Given the description of an element on the screen output the (x, y) to click on. 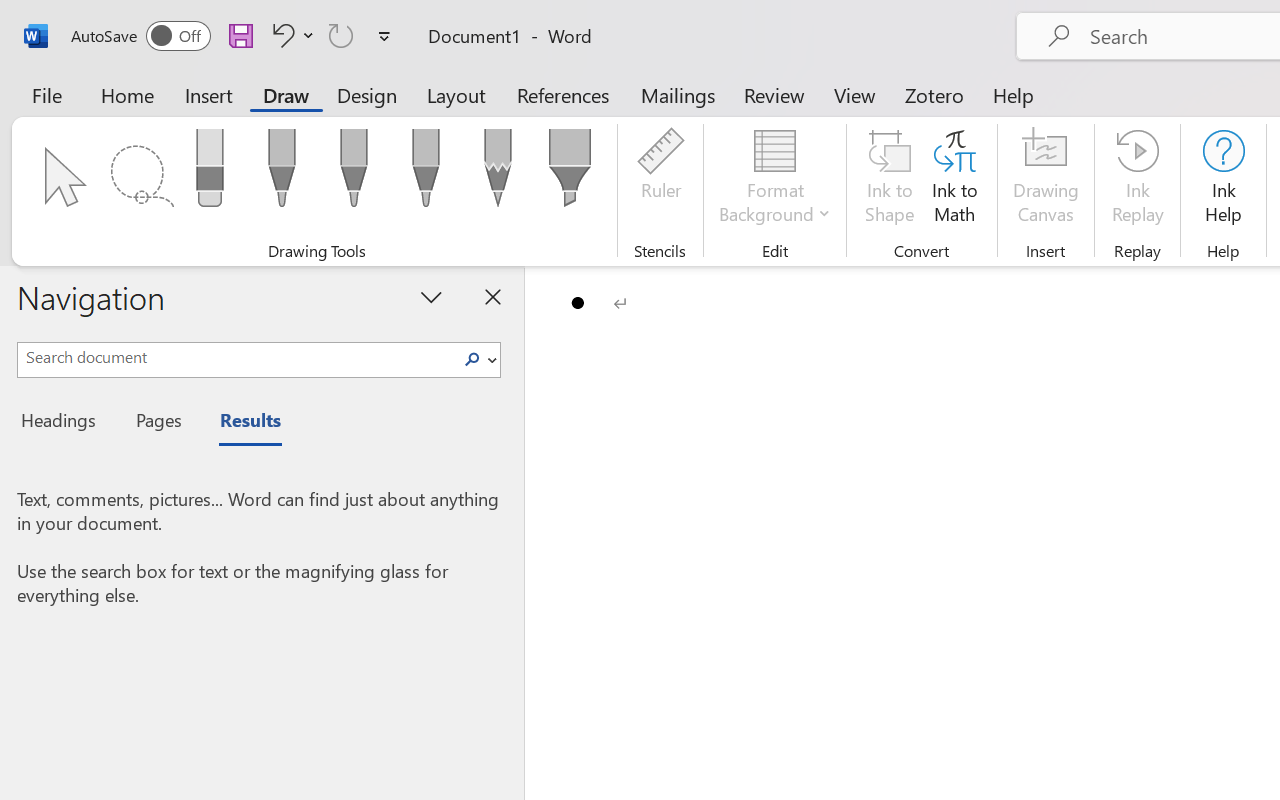
Pencil: Gray, 1 mm (497, 173)
Pages (156, 423)
Pen: Galaxy, 1 mm (426, 173)
Ink Help (1223, 179)
Ink to Math (954, 179)
